Given the description of an element on the screen output the (x, y) to click on. 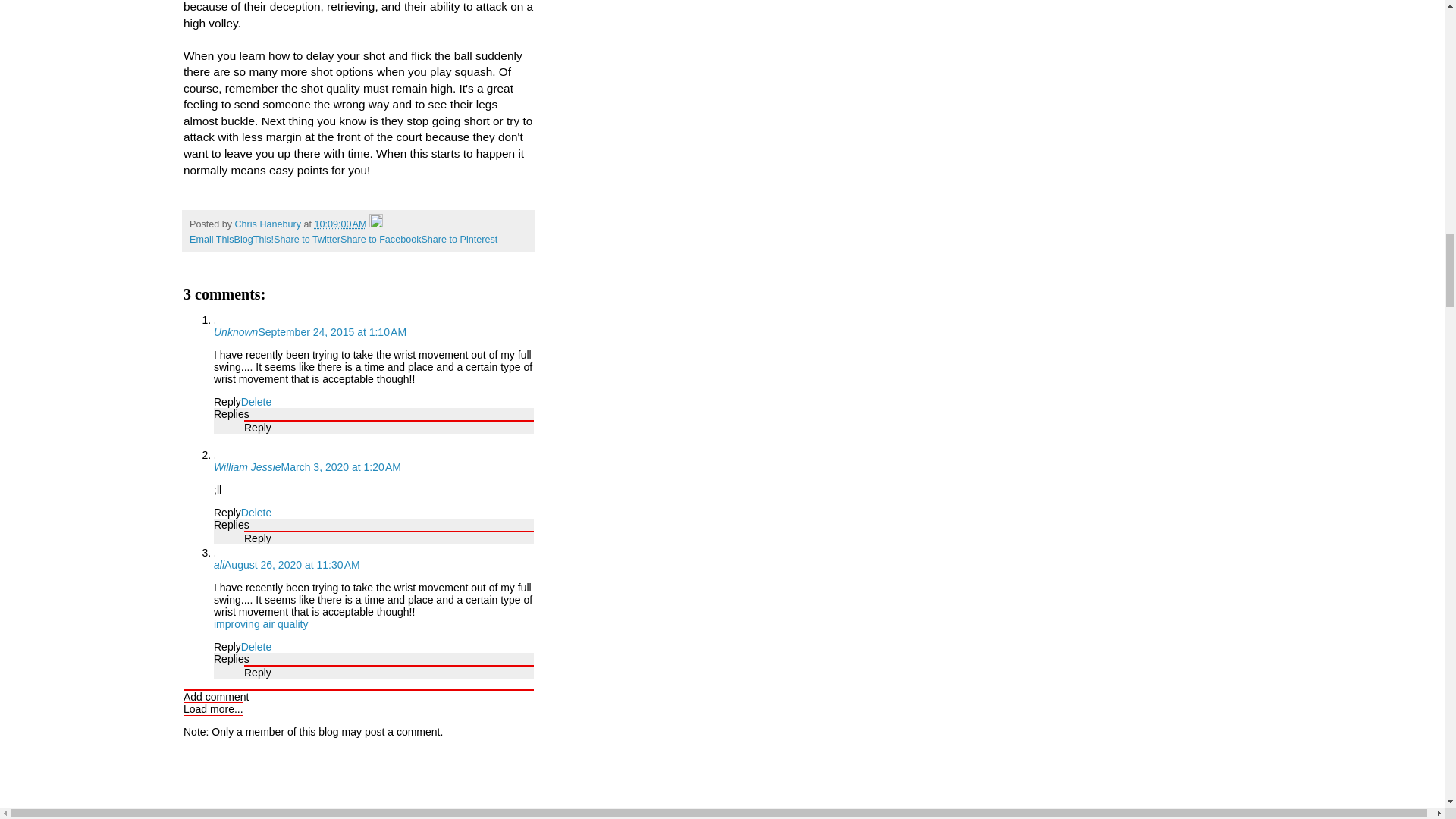
Share to Twitter (306, 239)
Unknown (235, 331)
author profile (269, 224)
improving air quality (261, 623)
BlogThis! (254, 239)
Reply (227, 512)
William Jessie (247, 467)
Email This (211, 239)
Reply (257, 427)
Reply (257, 538)
Email This (211, 239)
Reply (227, 646)
Add comment (215, 696)
